Given the description of an element on the screen output the (x, y) to click on. 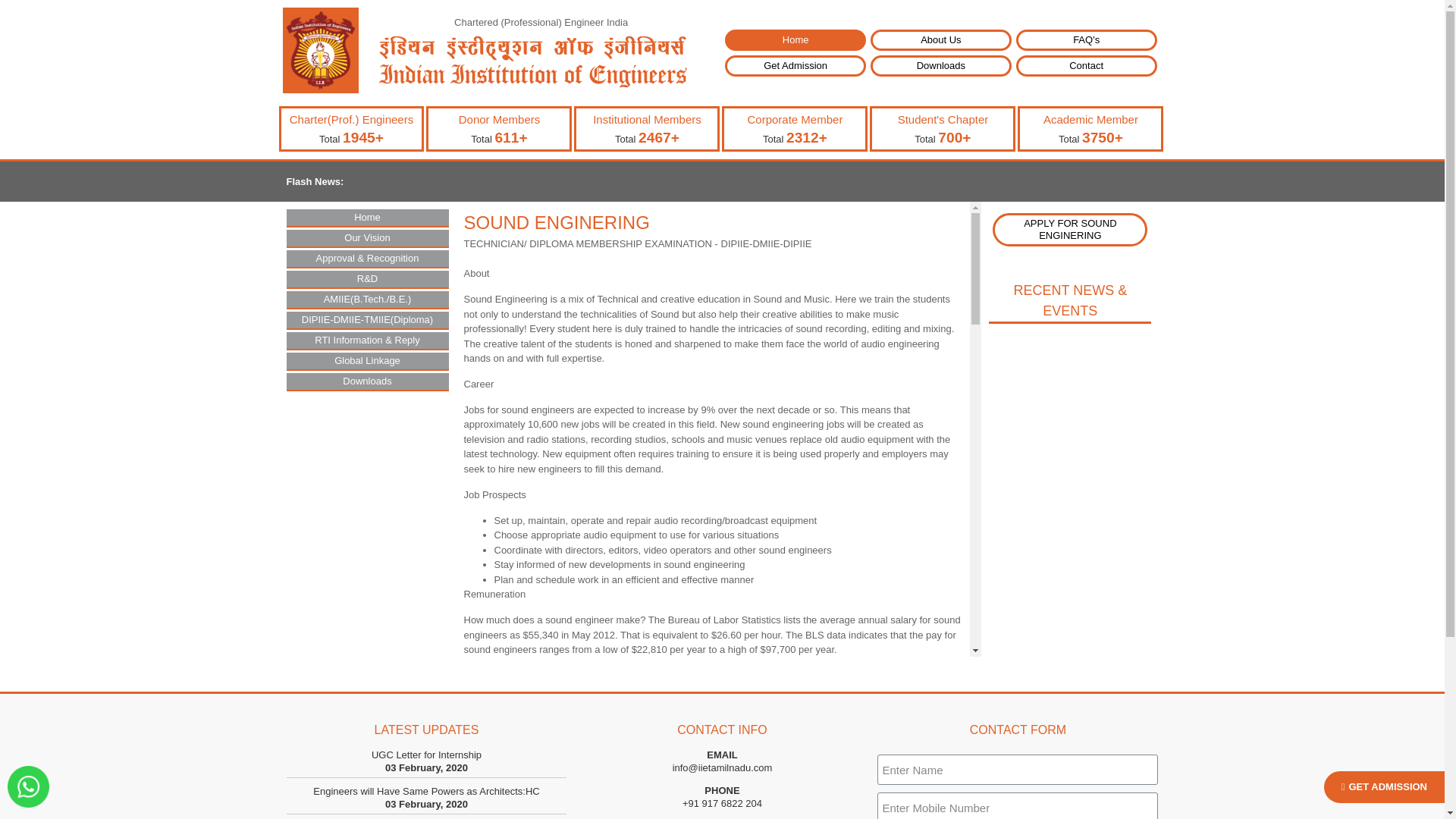
Contact (1086, 65)
About Us (940, 39)
Home (367, 217)
Downloads (367, 381)
Downloads (940, 65)
Global Linkage (367, 360)
Our Vision (367, 238)
Home (795, 39)
FAQ's (1086, 39)
Get Admission (795, 65)
